Given the description of an element on the screen output the (x, y) to click on. 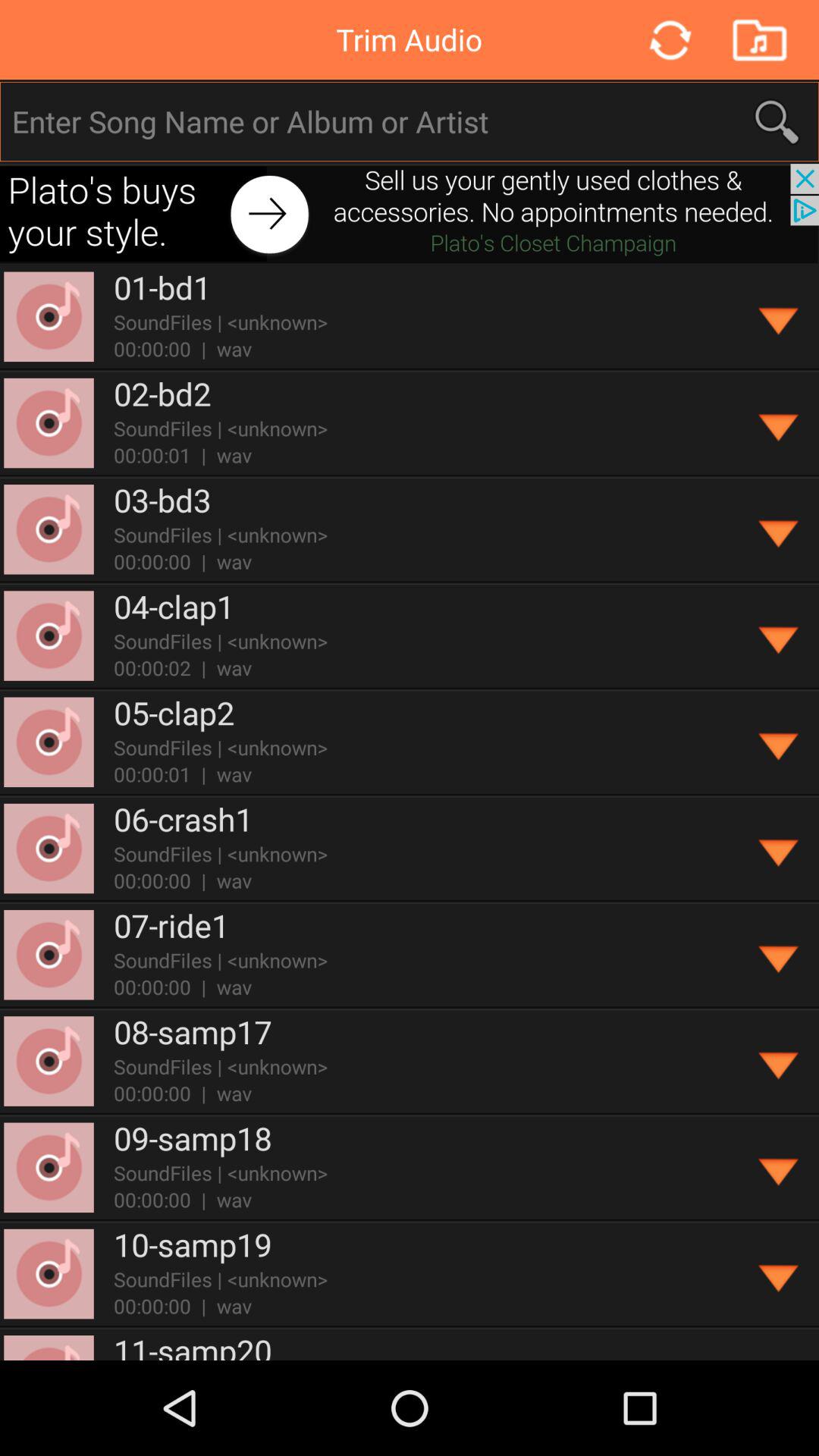
view details (779, 848)
